Given the description of an element on the screen output the (x, y) to click on. 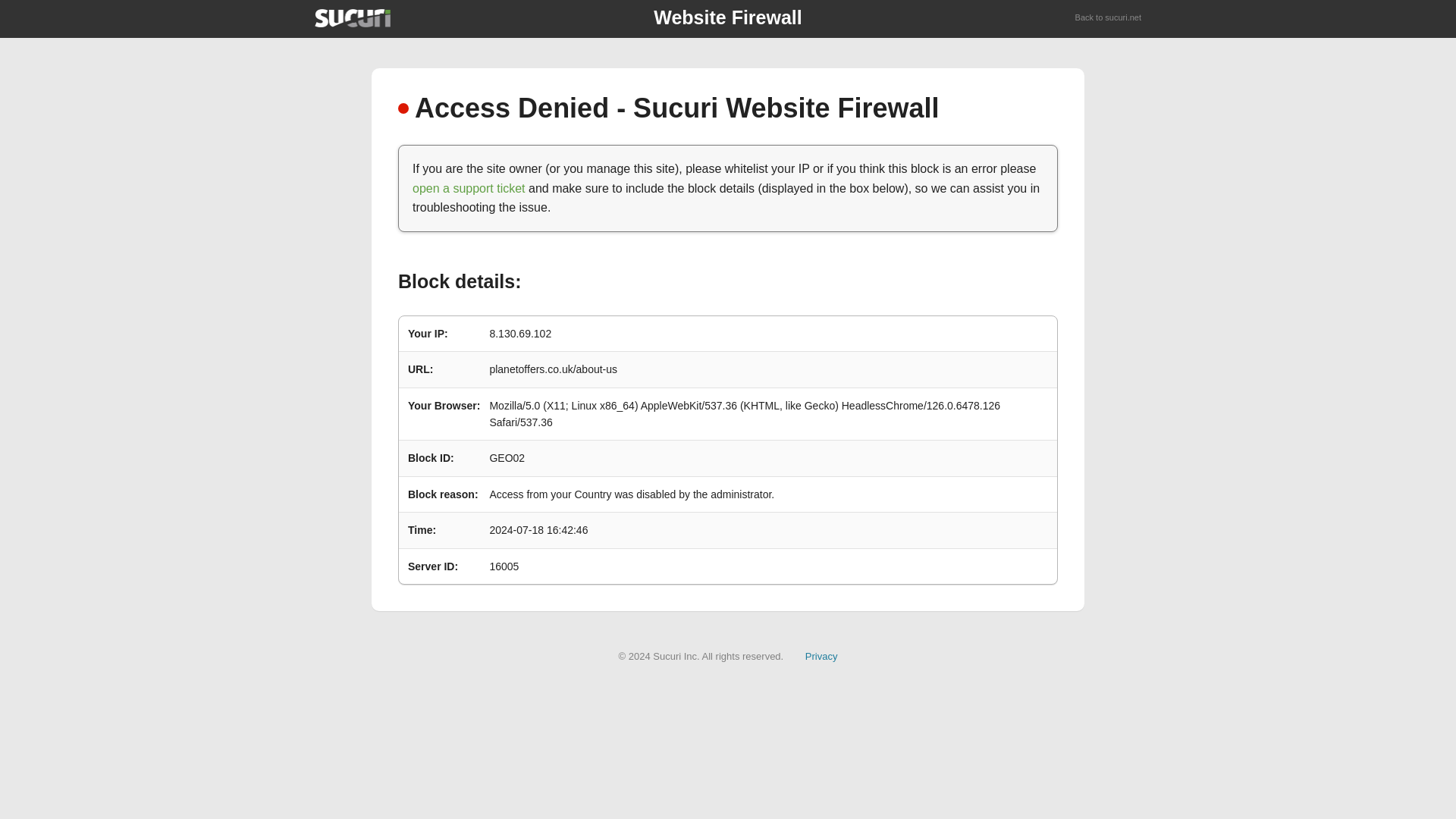
Privacy (821, 655)
open a support ticket (468, 187)
Back to sucuri.net (1108, 18)
